Given the description of an element on the screen output the (x, y) to click on. 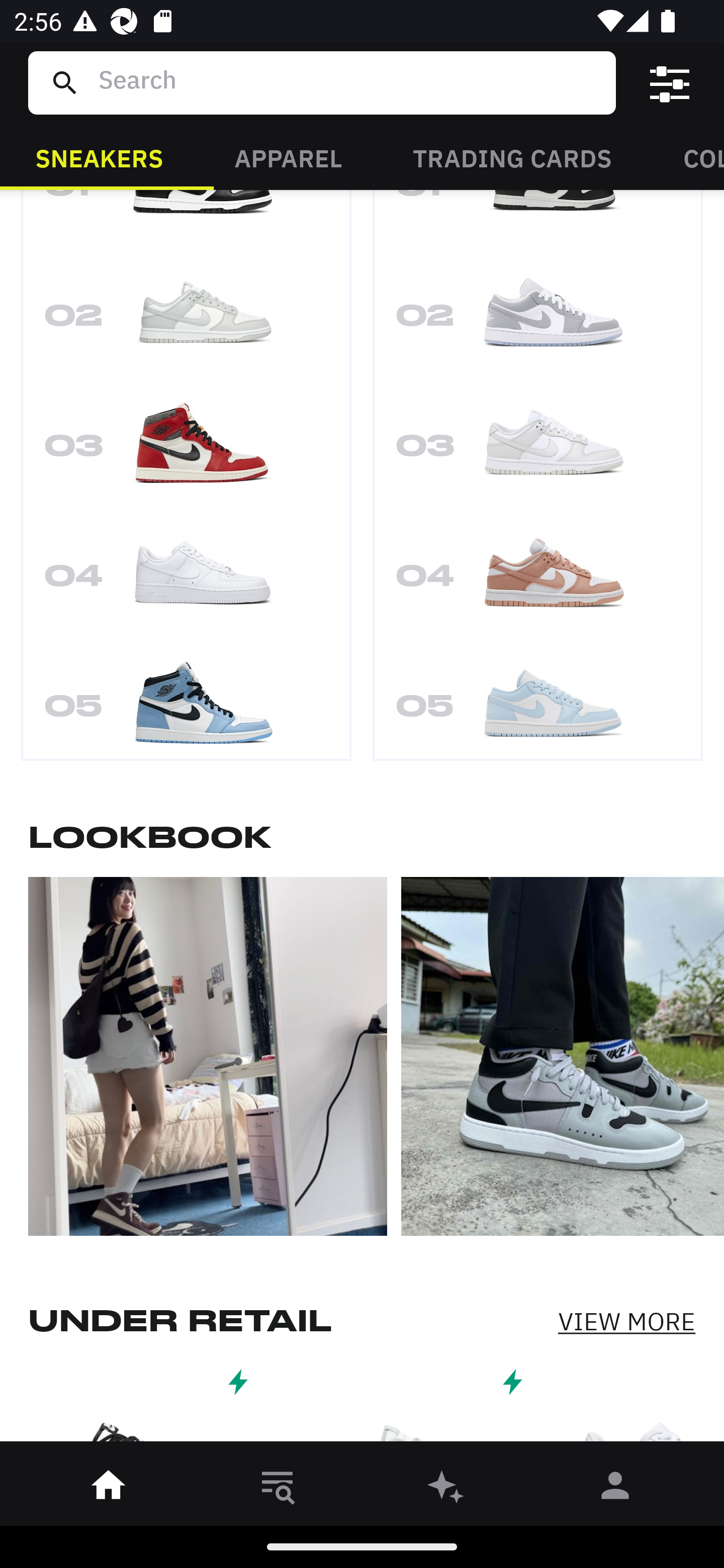
Search (349, 82)
 (669, 82)
SNEAKERS (99, 156)
APPAREL (287, 156)
TRADING CARDS (512, 156)
02 (186, 320)
02 (538, 320)
03 (186, 450)
03 (538, 450)
04 (186, 580)
04 (538, 580)
05 (186, 702)
05 (538, 702)
VIEW MORE (626, 1321)
󰋜 (108, 1488)
󱎸 (277, 1488)
󰫢 (446, 1488)
󰀄 (615, 1488)
